Given the description of an element on the screen output the (x, y) to click on. 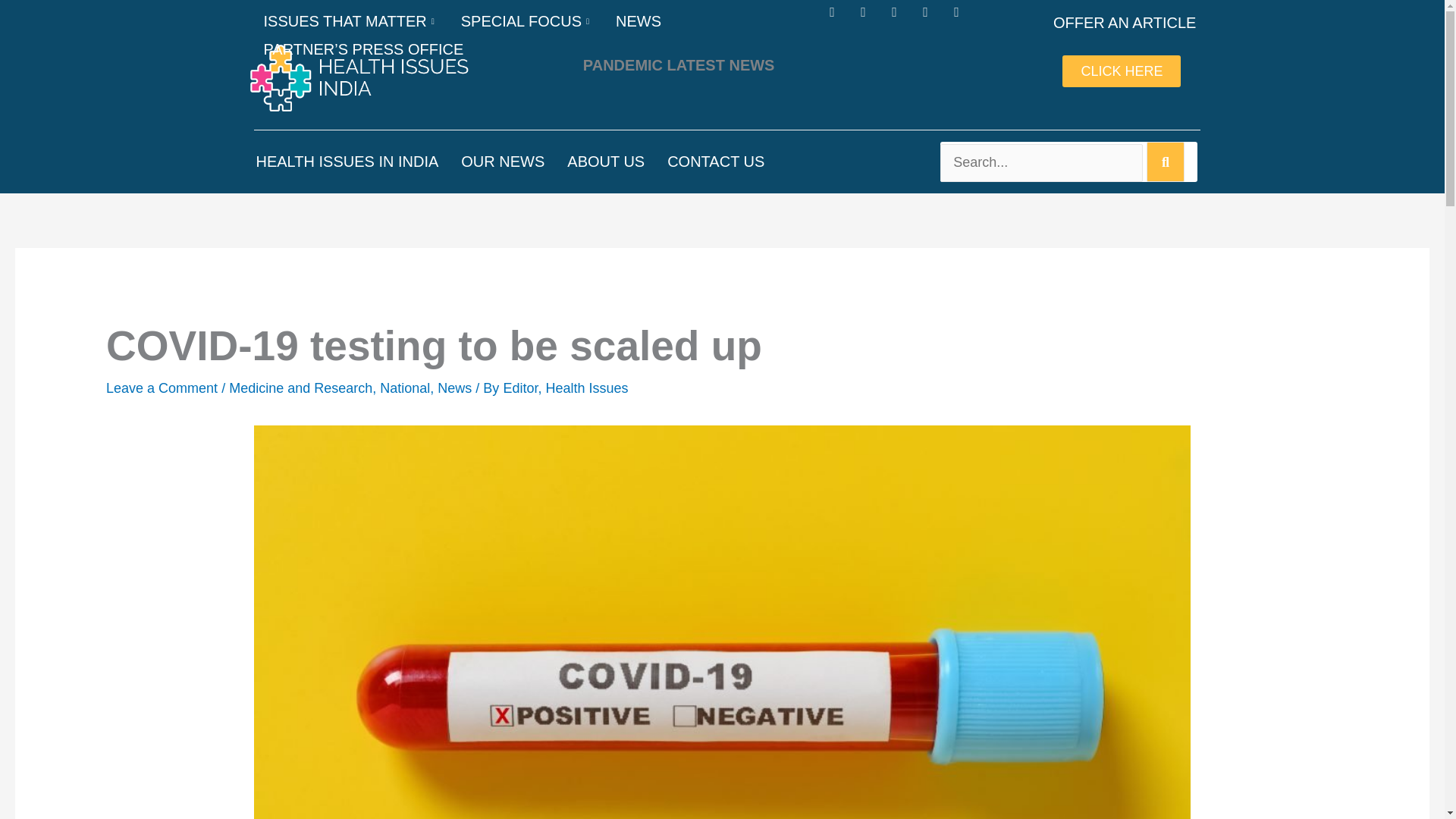
SPECIAL FOCUS (526, 21)
Twitter (870, 18)
Linkedin (932, 18)
View all posts by Editor, Health Issues (564, 387)
Youtube (962, 18)
Instagram (900, 18)
Facebook (838, 18)
NEWS (638, 21)
ISSUES THAT MATTER (349, 21)
